Given the description of an element on the screen output the (x, y) to click on. 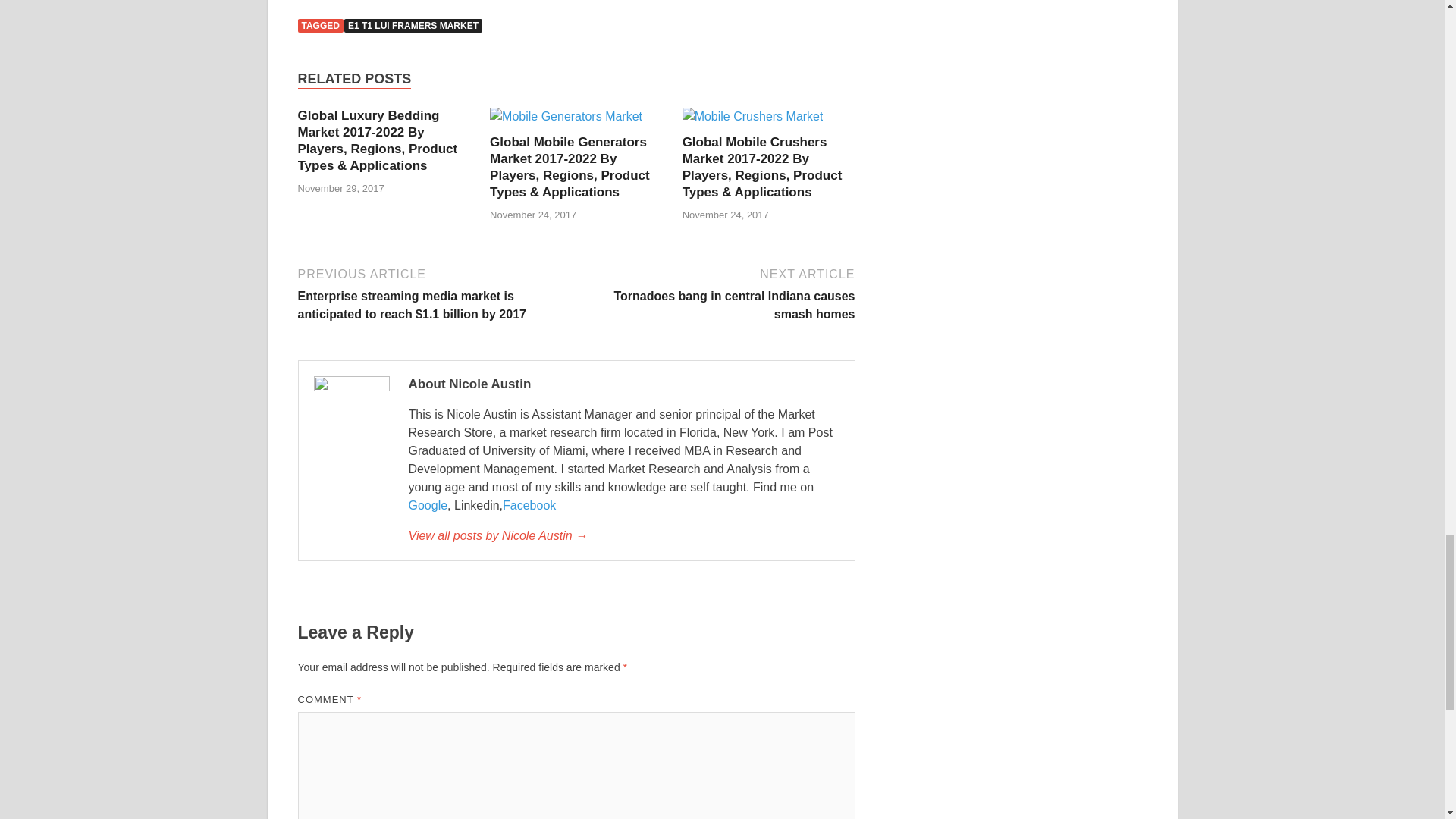
E1 T1 LUI FRAMERS MARKET (412, 25)
Google (426, 504)
Facebook (529, 504)
Nicole Austin (622, 536)
